Given the description of an element on the screen output the (x, y) to click on. 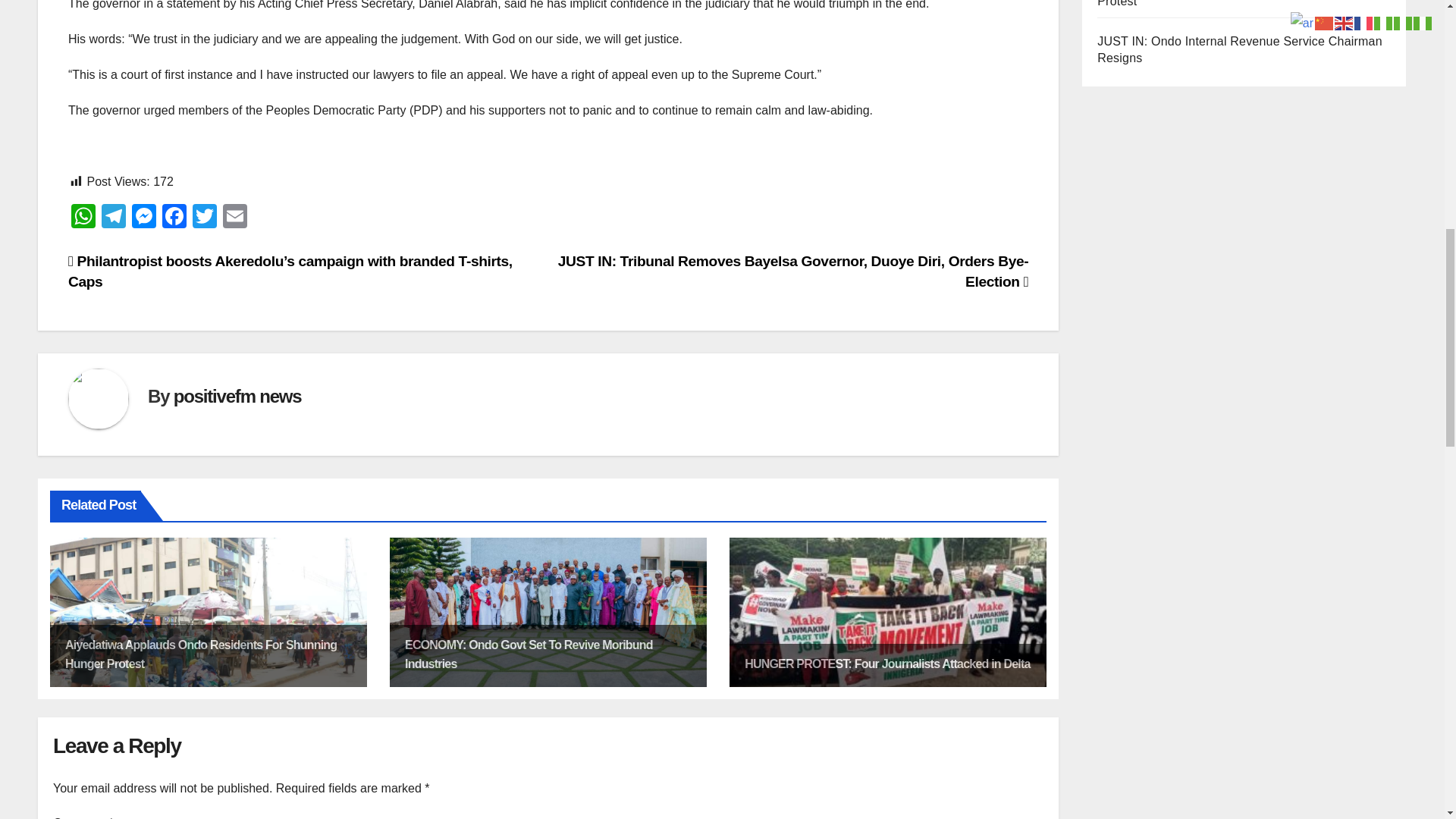
WhatsApp (83, 217)
Facebook (173, 217)
Email (234, 217)
Telegram (114, 217)
Twitter (204, 217)
Messenger (143, 217)
